Given the description of an element on the screen output the (x, y) to click on. 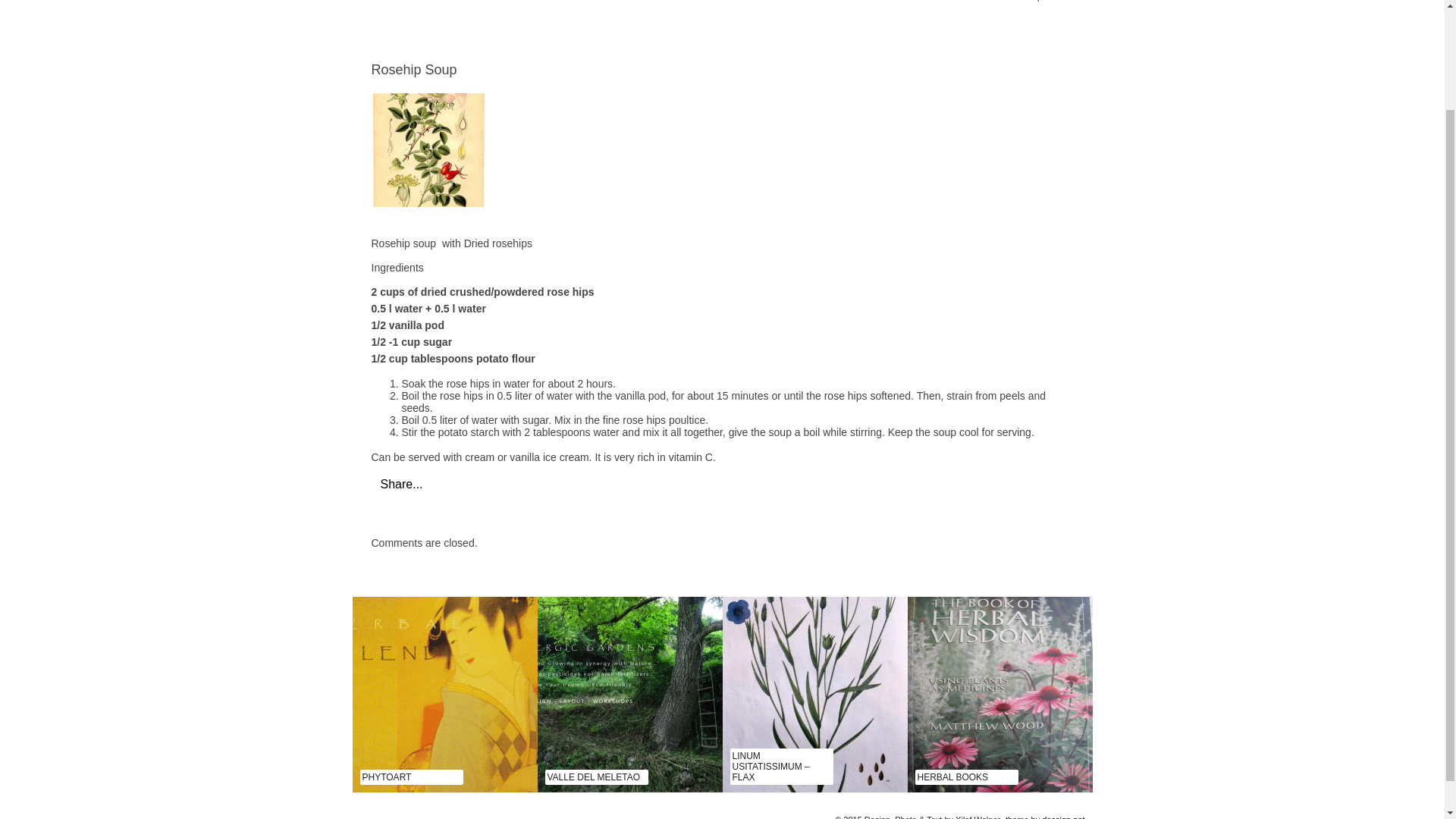
PHYTOART (700, 2)
RECIPES (786, 2)
HERBAL BOOKS (952, 777)
HEALTH (405, 2)
EVENTS (865, 2)
VALLE DEL MELETAO (593, 777)
GARDEN PROJECTS (511, 2)
BLOG (935, 2)
Share... (401, 484)
PHYTOART (387, 777)
PLANTS (616, 2)
